Given the description of an element on the screen output the (x, y) to click on. 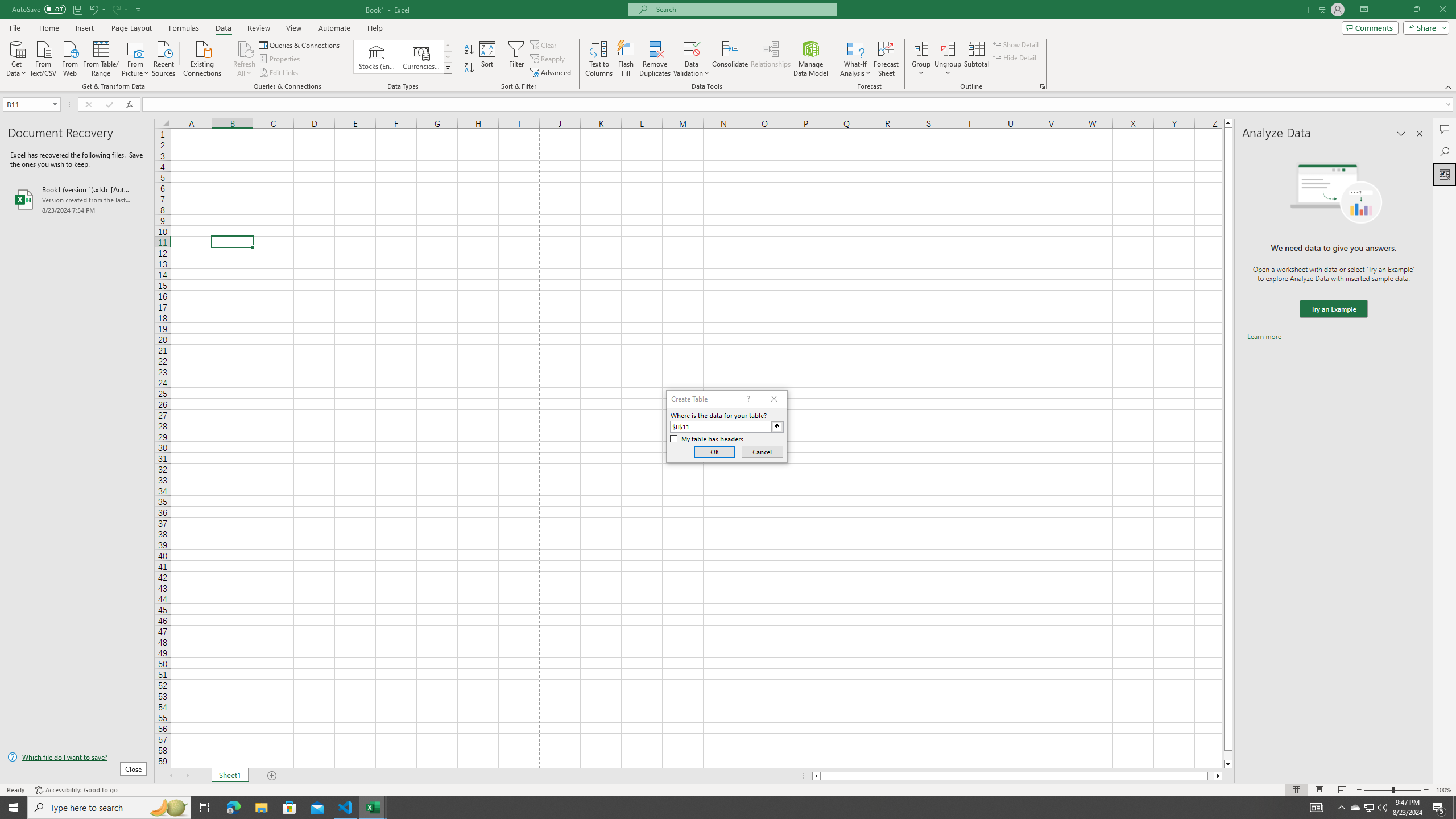
Reapply (548, 58)
Properties (280, 58)
Get Data (16, 57)
We need data to give you answers. Try an Example (1333, 308)
